Given the description of an element on the screen output the (x, y) to click on. 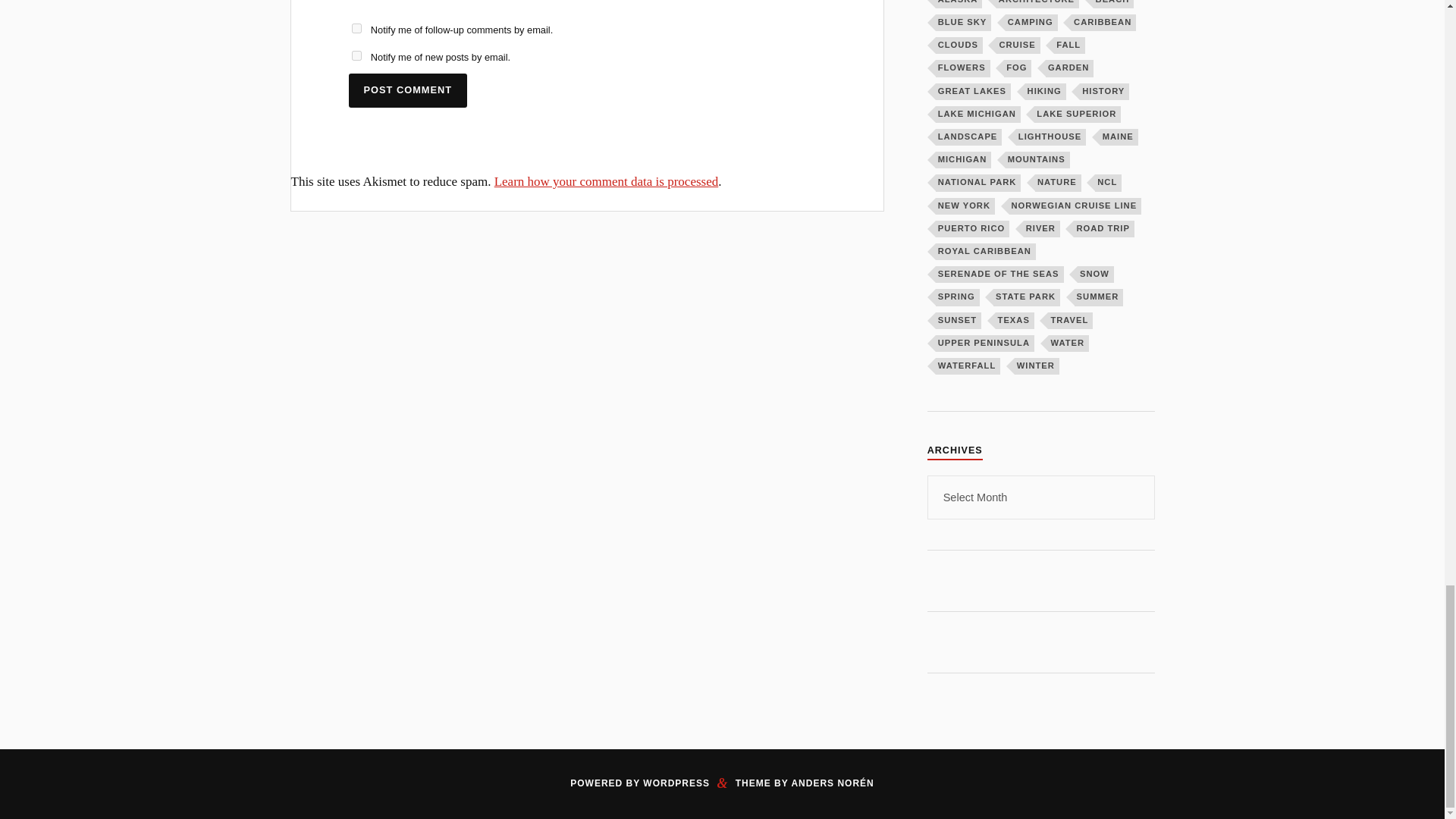
Post Comment (408, 90)
Learn how your comment data is processed (607, 181)
subscribe (356, 55)
subscribe (356, 28)
Post Comment (408, 90)
